Given the description of an element on the screen output the (x, y) to click on. 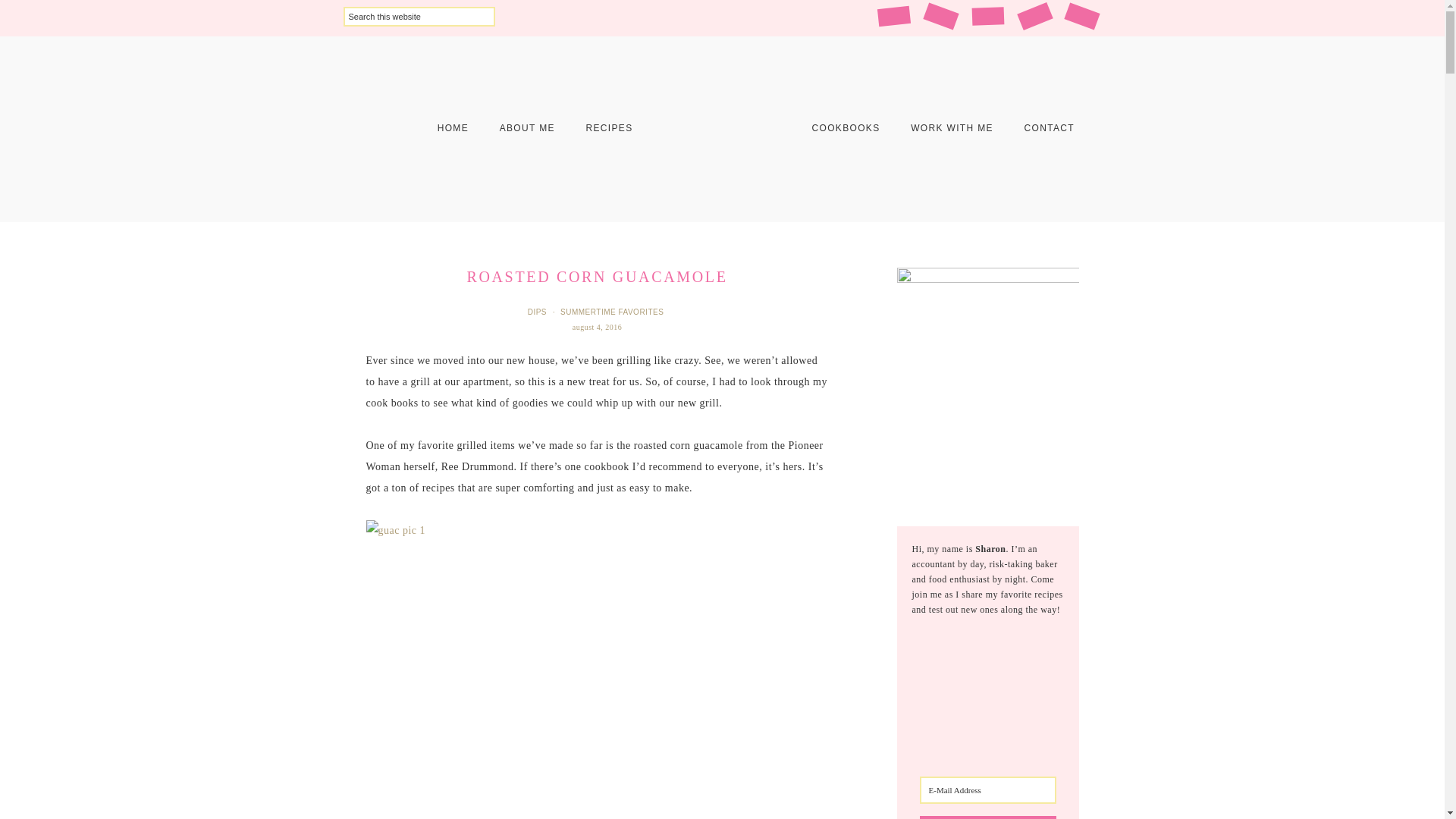
Twitter (1080, 15)
ABOUT ME (527, 128)
COOKBOOKS (845, 128)
WORK WITH ME (951, 128)
Twitter (1080, 11)
DIPS (538, 311)
Yes! (988, 817)
RECIPES (609, 128)
